Given the description of an element on the screen output the (x, y) to click on. 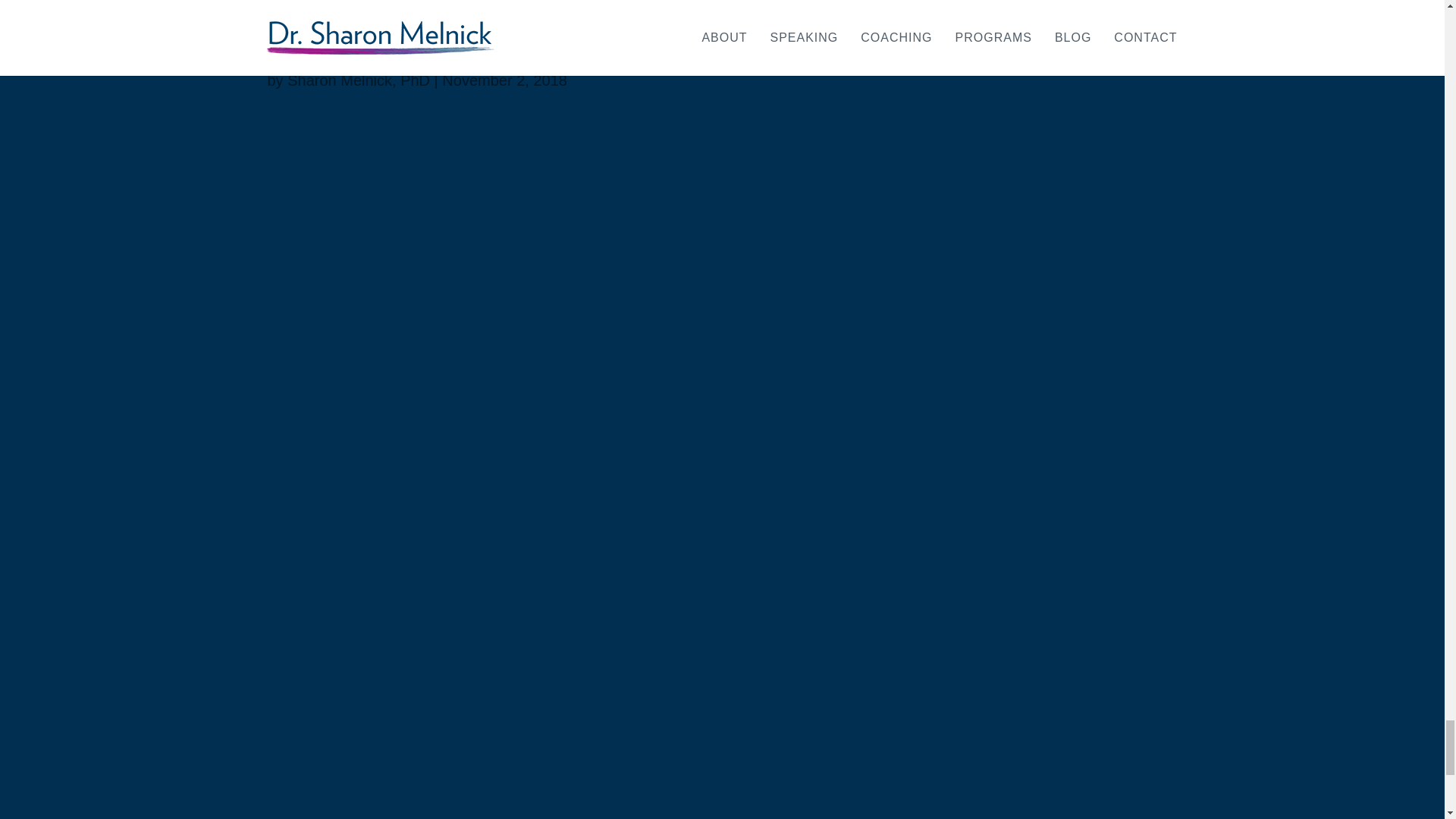
How to Counteract the Likability Penalty Leadership... (479, 49)
How to Counteract the Likability Penalty Leadership Bias (721, 20)
